Given the description of an element on the screen output the (x, y) to click on. 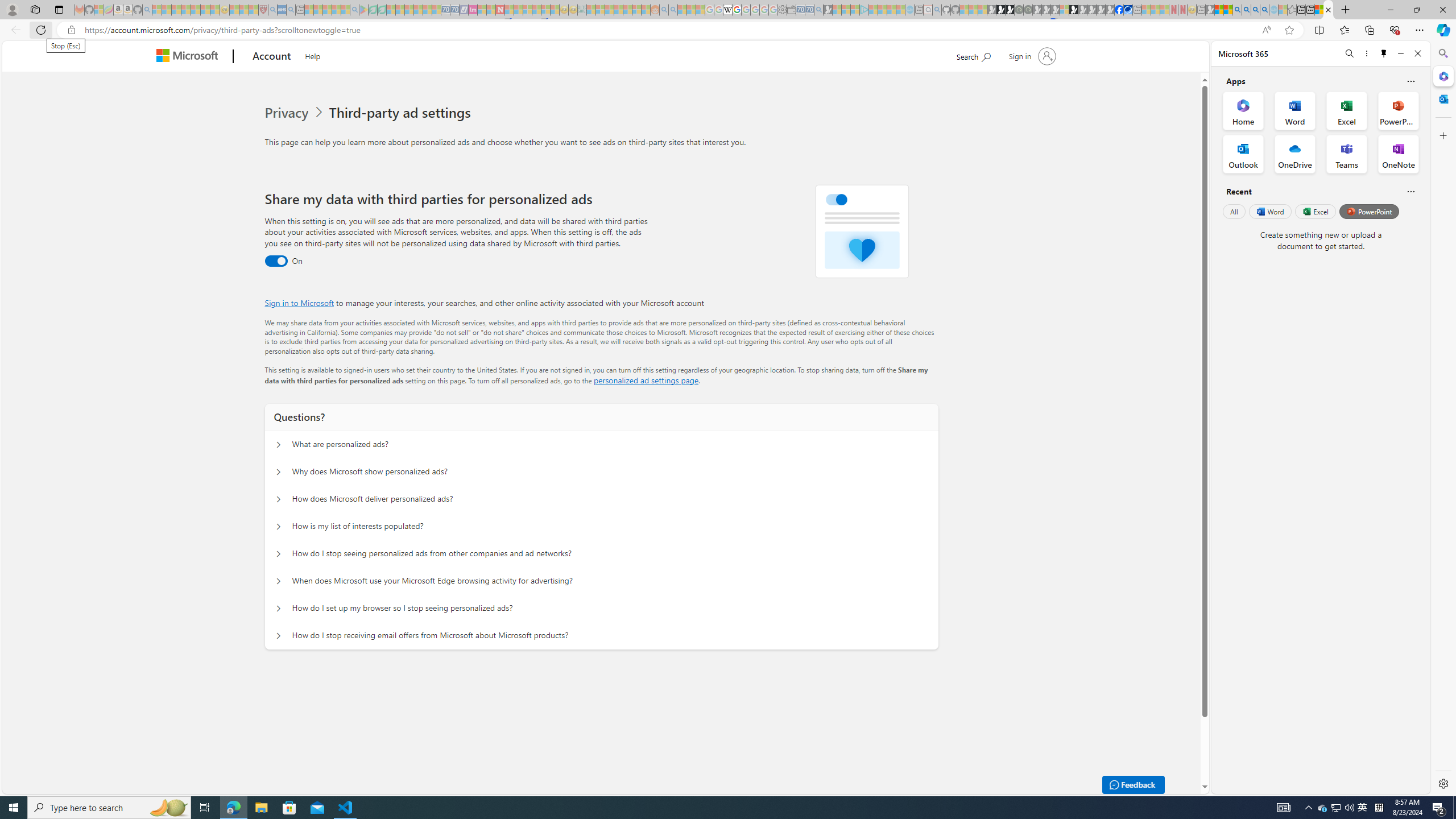
MSN - Sleeping (1210, 9)
All (1233, 210)
PowerPoint (1369, 210)
Excel (1315, 210)
Close Microsoft 365 pane (1442, 76)
Expert Portfolios - Sleeping (617, 9)
Sign in to Microsoft (299, 302)
